Given the description of an element on the screen output the (x, y) to click on. 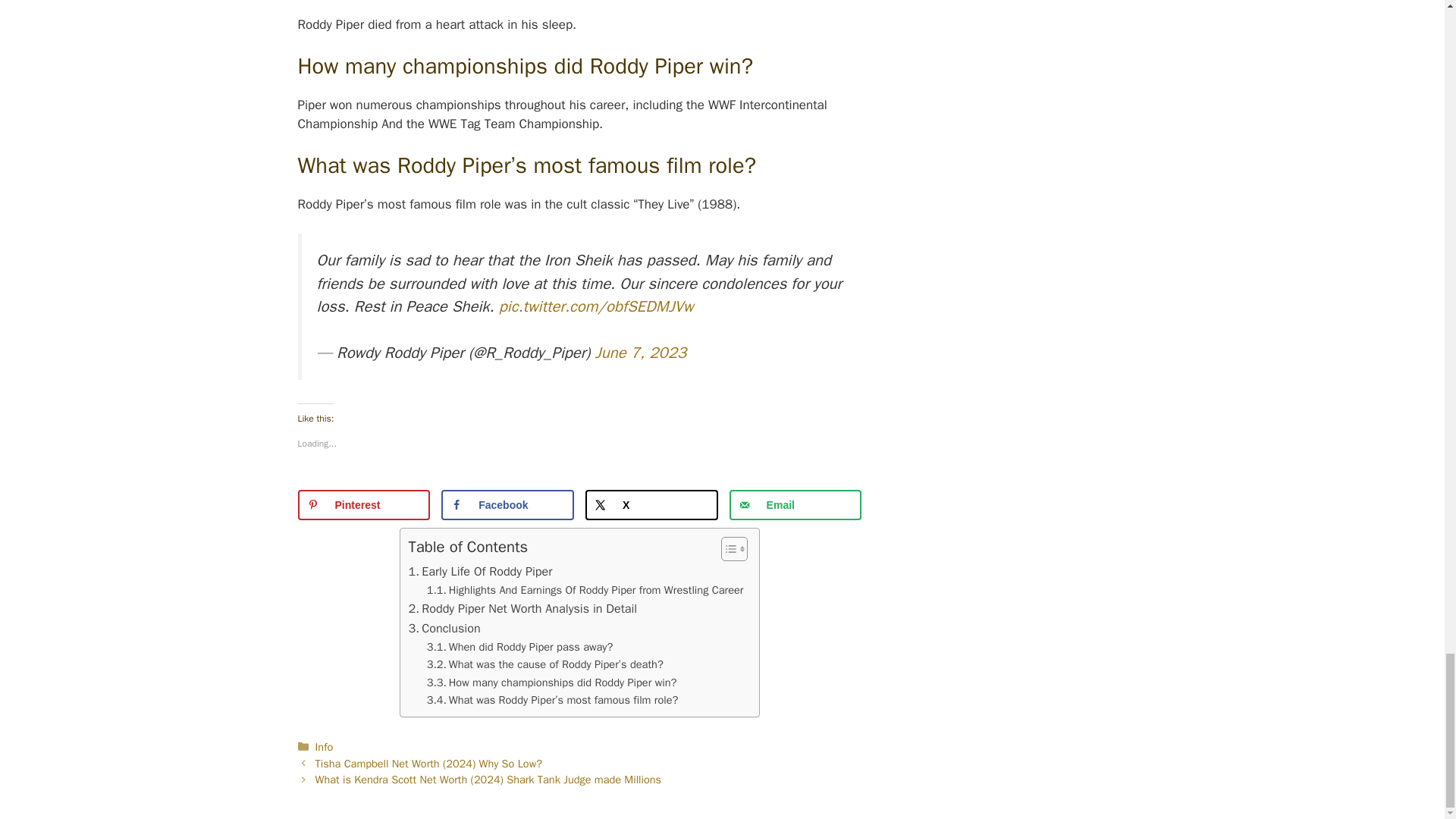
Roddy Piper Net Worth Analysis in Detail (522, 608)
Highlights And Earnings Of Roddy Piper from Wrestling Career (585, 589)
X (651, 504)
Early Life Of Roddy Piper (479, 571)
Save to Pinterest (363, 504)
Highlights And Earnings Of Roddy Piper from Wrestling Career (585, 589)
Info (324, 746)
Early Life Of Roddy Piper (479, 571)
How many championships did Roddy Piper win? (551, 682)
Send over email (795, 504)
Share on X (651, 504)
June 7, 2023 (641, 352)
Conclusion (443, 628)
Share on Facebook (507, 504)
Facebook (507, 504)
